Given the description of an element on the screen output the (x, y) to click on. 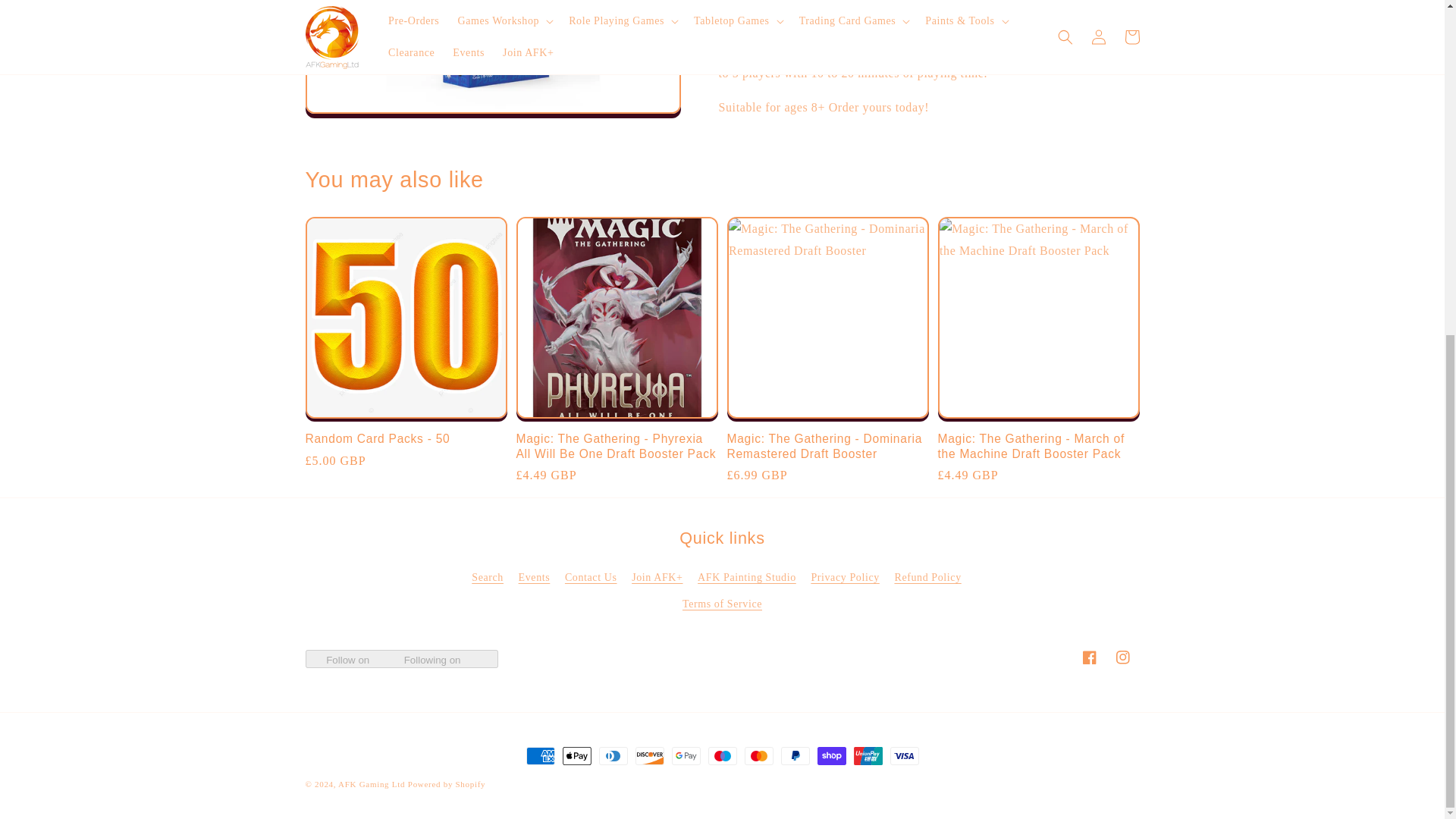
Smile.io Rewards Program Launcher (1406, 219)
